Given the description of an element on the screen output the (x, y) to click on. 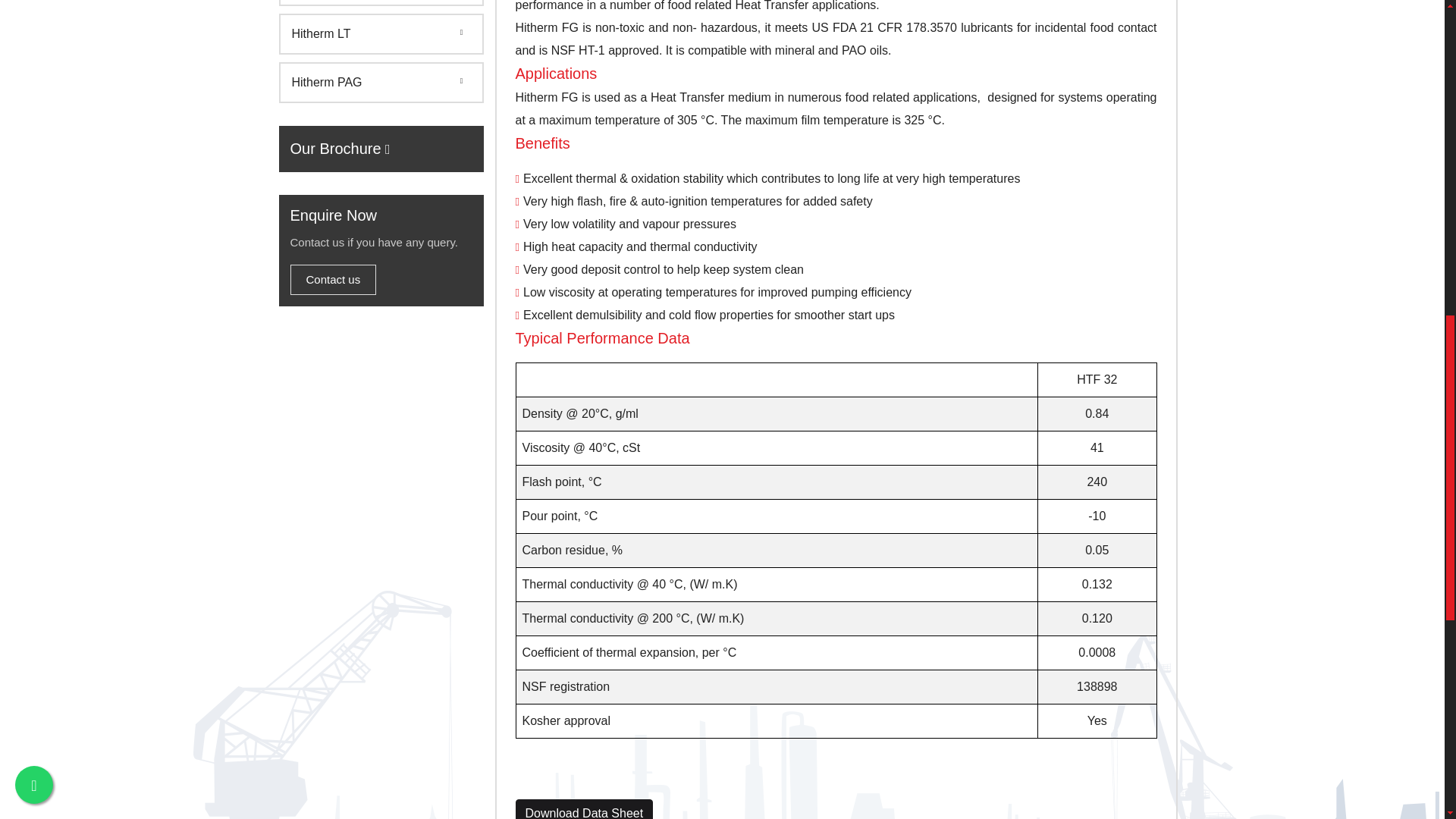
Add this item (584, 809)
